Given the description of an element on the screen output the (x, y) to click on. 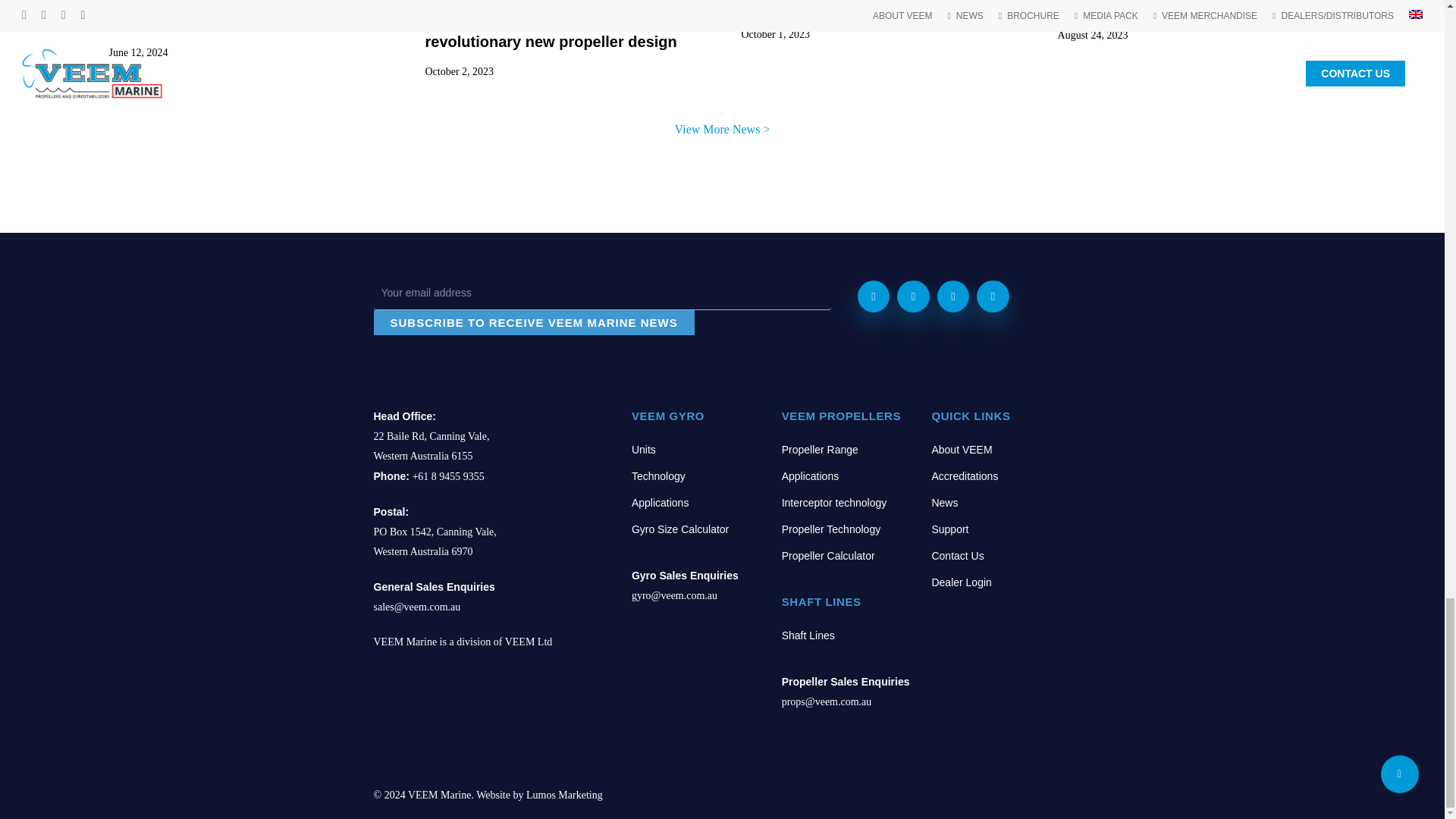
Subscribe to receive VEEM Marine news (533, 322)
